Given the description of an element on the screen output the (x, y) to click on. 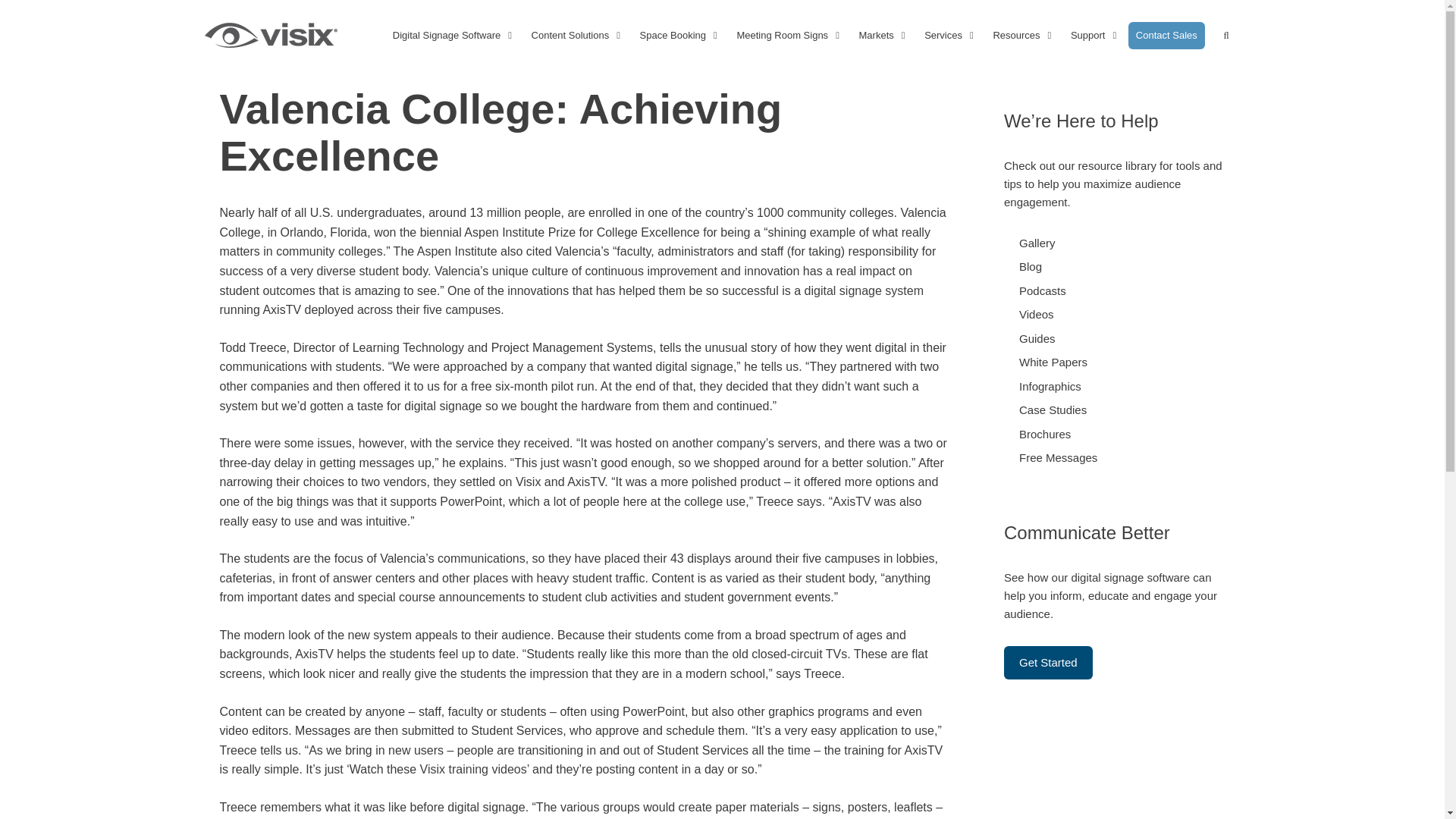
Content Solutions (577, 35)
Markets (884, 35)
Visix (271, 35)
Digital Signage System (864, 290)
Digital Signage Software (454, 35)
Meeting Room Signs (789, 35)
Space Booking (680, 35)
